Given the description of an element on the screen output the (x, y) to click on. 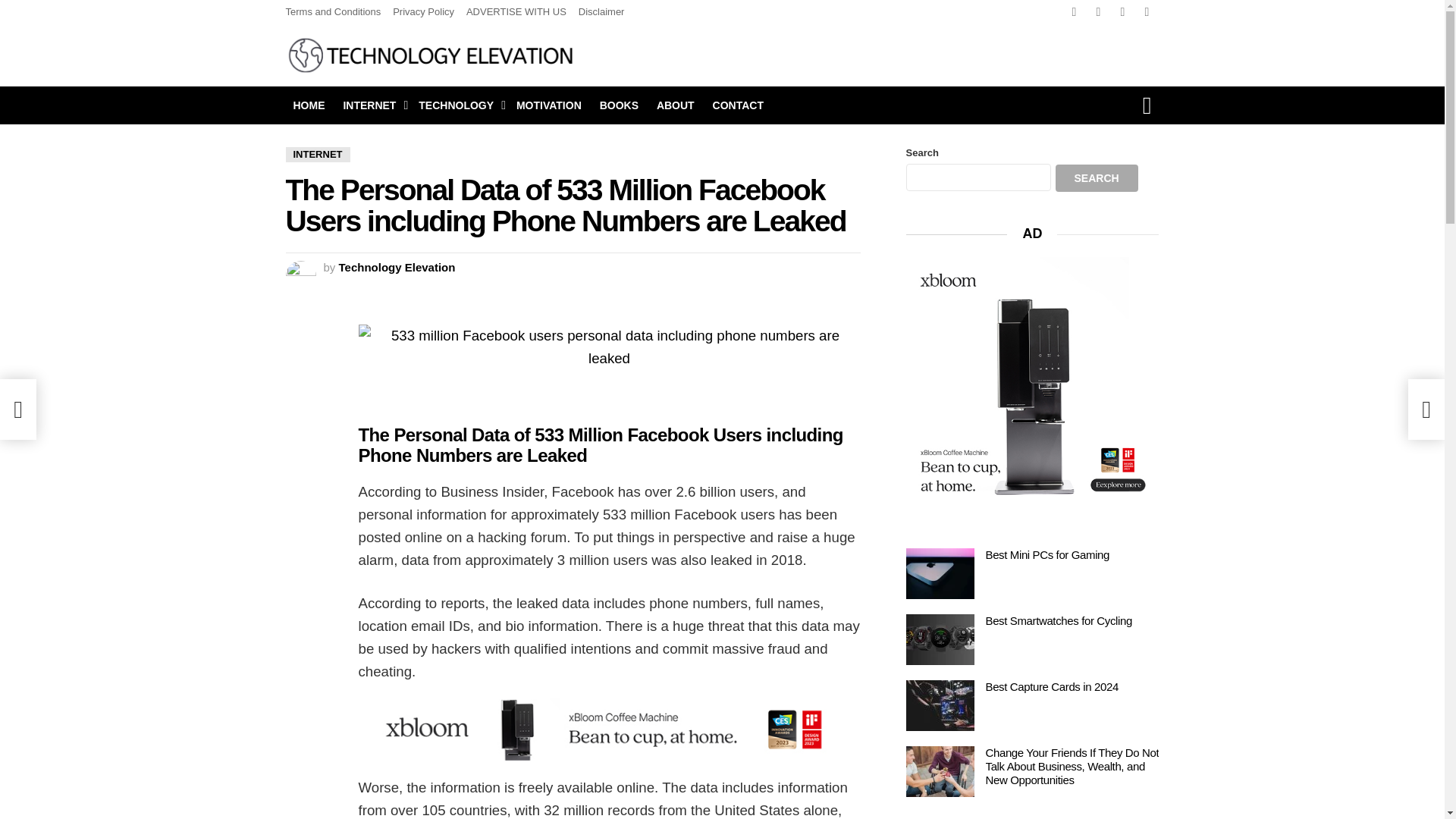
MOTIVATION (548, 105)
BOOKS (619, 105)
ADVERTISE WITH US (515, 12)
CONTACT (737, 105)
Facebook (1073, 11)
Posts by Technology Elevation (397, 267)
instagram (1121, 11)
Disclaimer (601, 12)
Twitter (1097, 11)
Terms and Conditions (332, 12)
ABOUT (675, 105)
Pinterest (1146, 11)
Technology Elevation (397, 267)
TECHNOLOGY (457, 105)
